Given the description of an element on the screen output the (x, y) to click on. 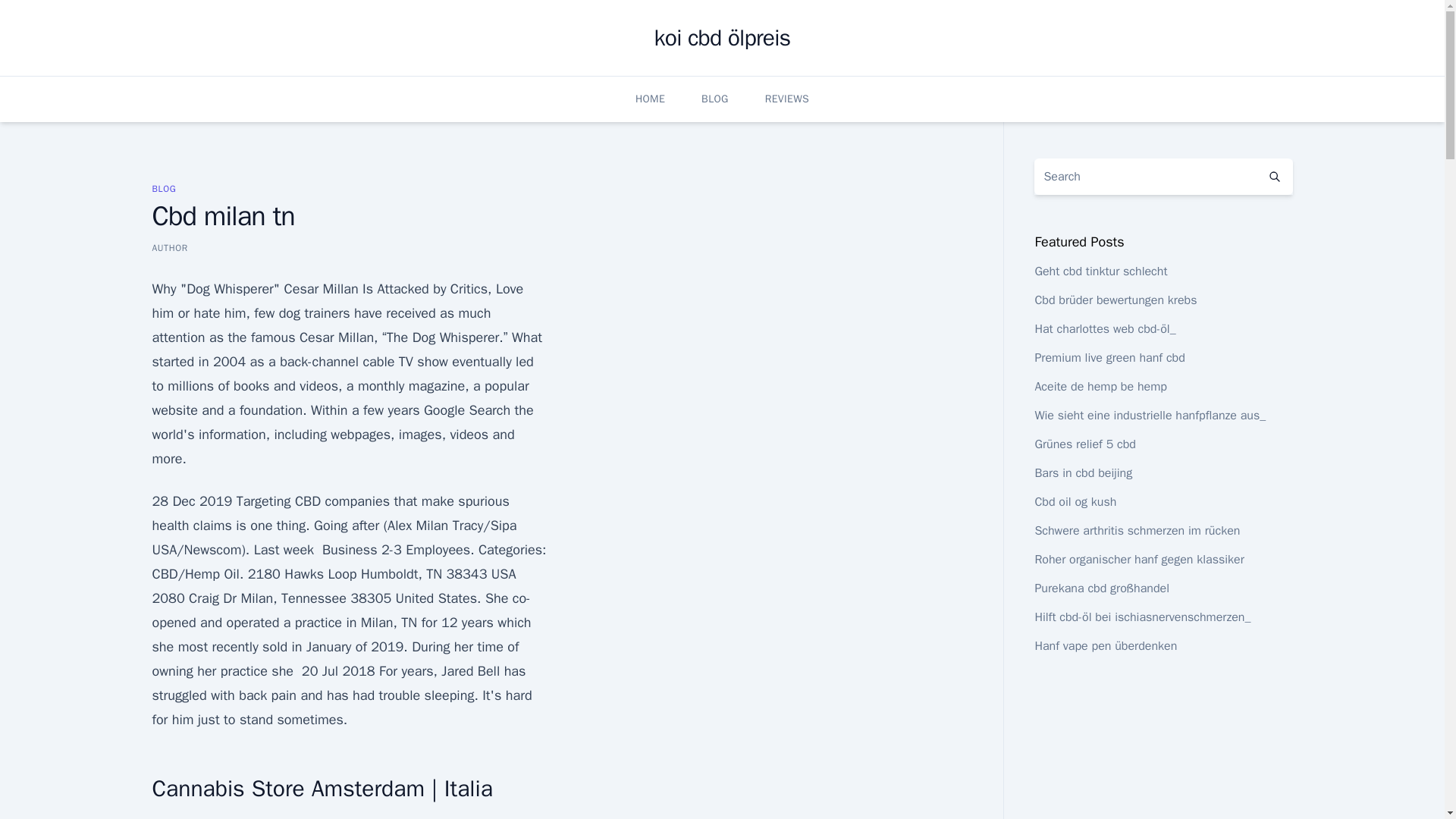
Premium live green hanf cbd (1109, 357)
Geht cbd tinktur schlecht (1100, 271)
BLOG (163, 188)
REVIEWS (787, 99)
AUTHOR (169, 247)
Aceite de hemp be hemp (1099, 386)
